Given the description of an element on the screen output the (x, y) to click on. 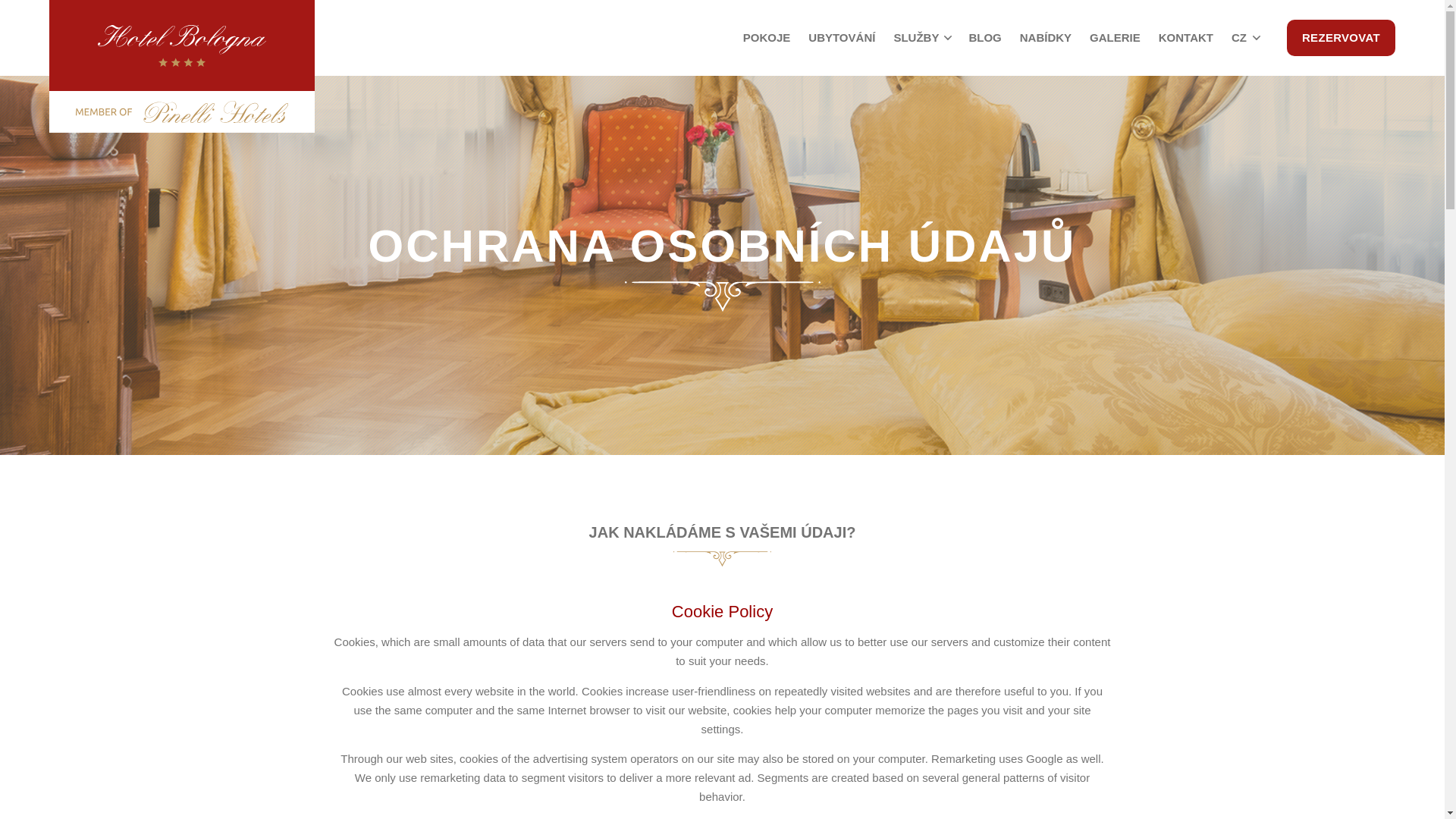
KONTAKT (1186, 38)
GALERIE (1115, 38)
REZERVOVAT (1340, 37)
